Given the description of an element on the screen output the (x, y) to click on. 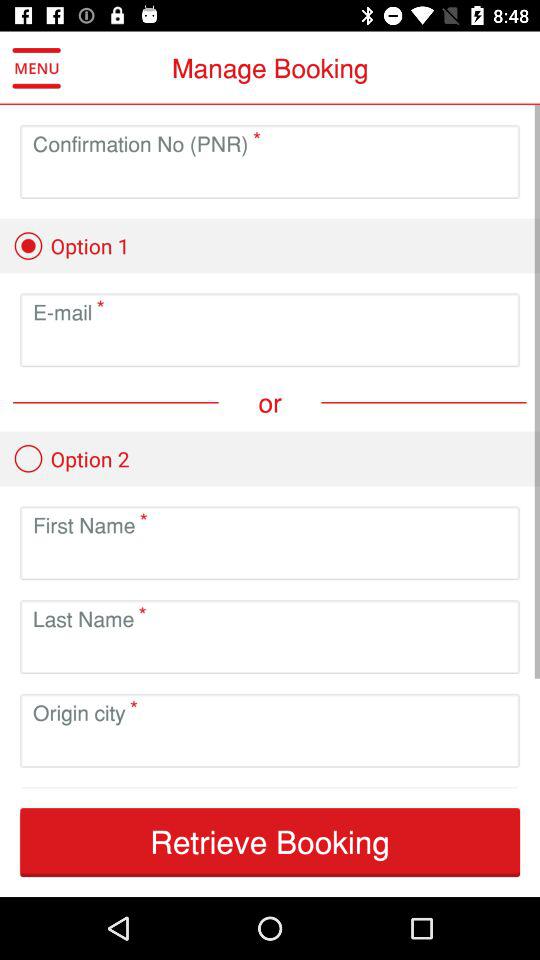
confirmation no input box (270, 177)
